Given the description of an element on the screen output the (x, y) to click on. 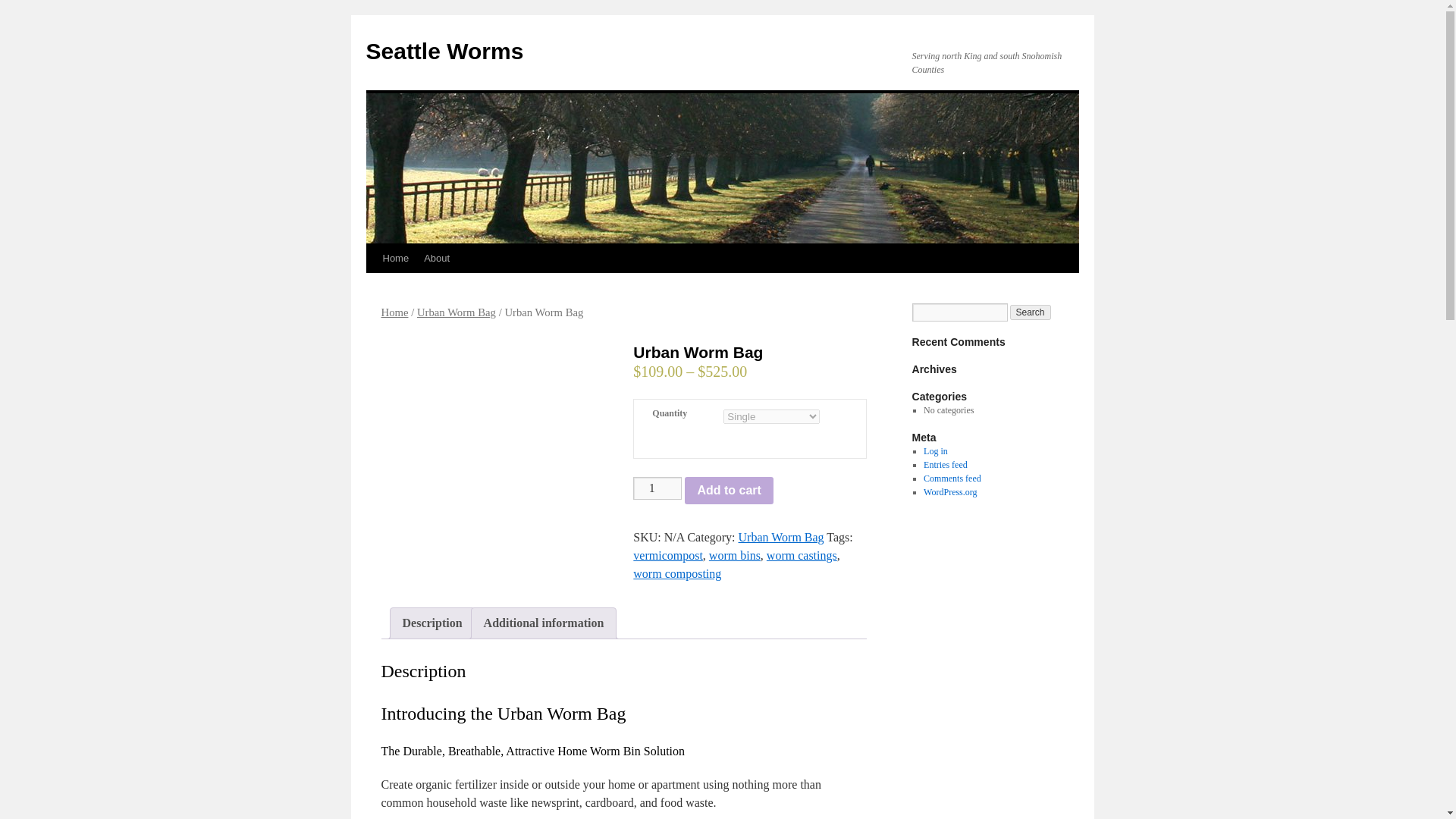
worm castings (802, 554)
Home (395, 258)
Seattle Worms (443, 50)
Urban Worm Bag (781, 536)
About (436, 258)
Urban Worm Bag (456, 312)
Home (393, 312)
Search (1030, 312)
Description (431, 623)
Skip to content (372, 286)
Log in (935, 450)
worm bins (734, 554)
vermicompost (668, 554)
Search (1030, 312)
WordPress.org (949, 491)
